Given the description of an element on the screen output the (x, y) to click on. 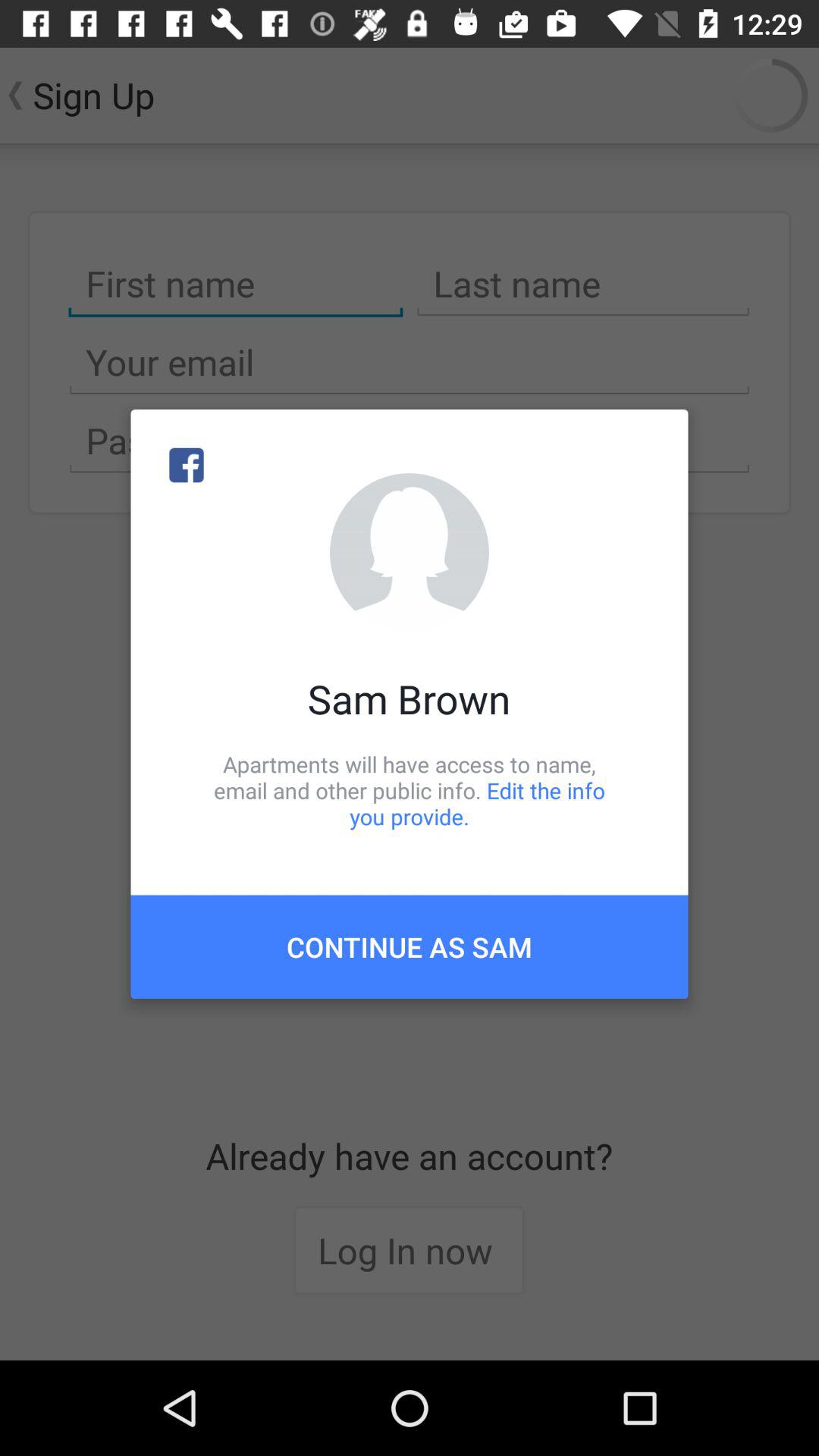
open the apartments will have (409, 790)
